Given the description of an element on the screen output the (x, y) to click on. 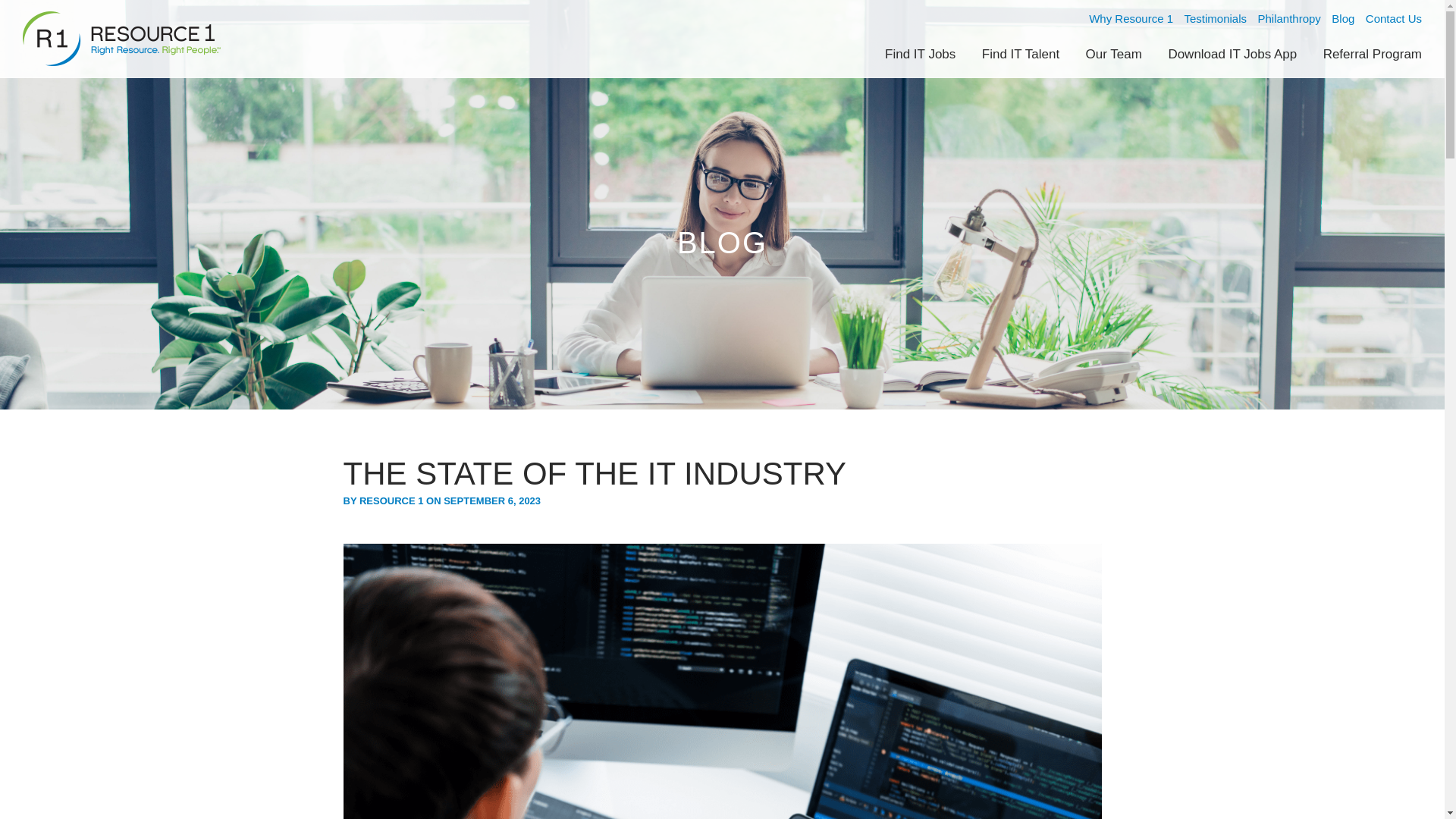
Contact Us (1393, 18)
Referral Program (1372, 53)
Testimonials (1214, 18)
Why Resource 1 (1131, 18)
Download IT Jobs App (1232, 53)
Find IT Talent (1020, 53)
Blog (1343, 18)
Philanthropy (1288, 18)
Our Team (1113, 53)
Find IT Jobs (920, 53)
